Given the description of an element on the screen output the (x, y) to click on. 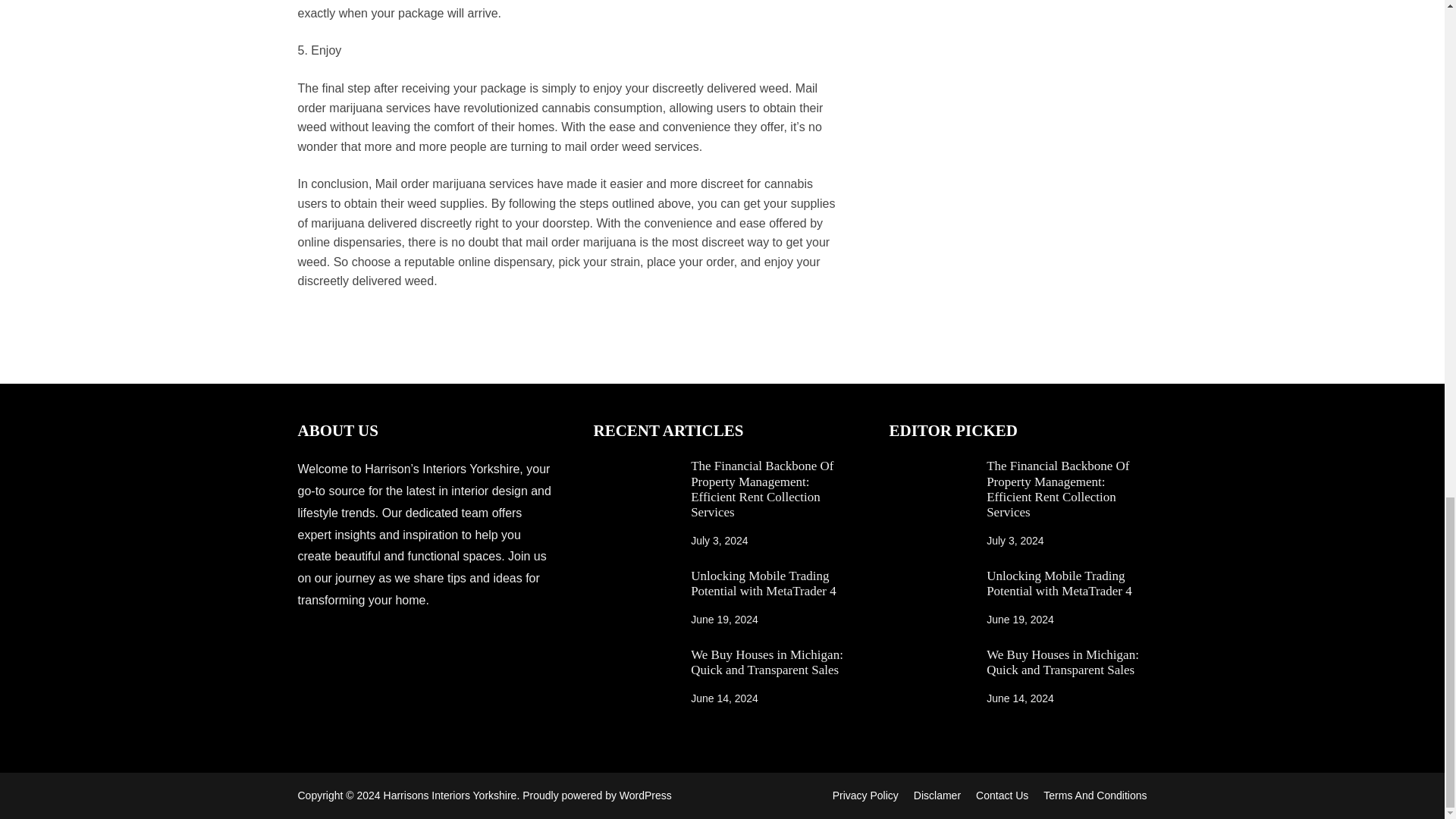
Harrisons Interiors Yorkshire (450, 795)
July 3, 2024 (719, 540)
